Given the description of an element on the screen output the (x, y) to click on. 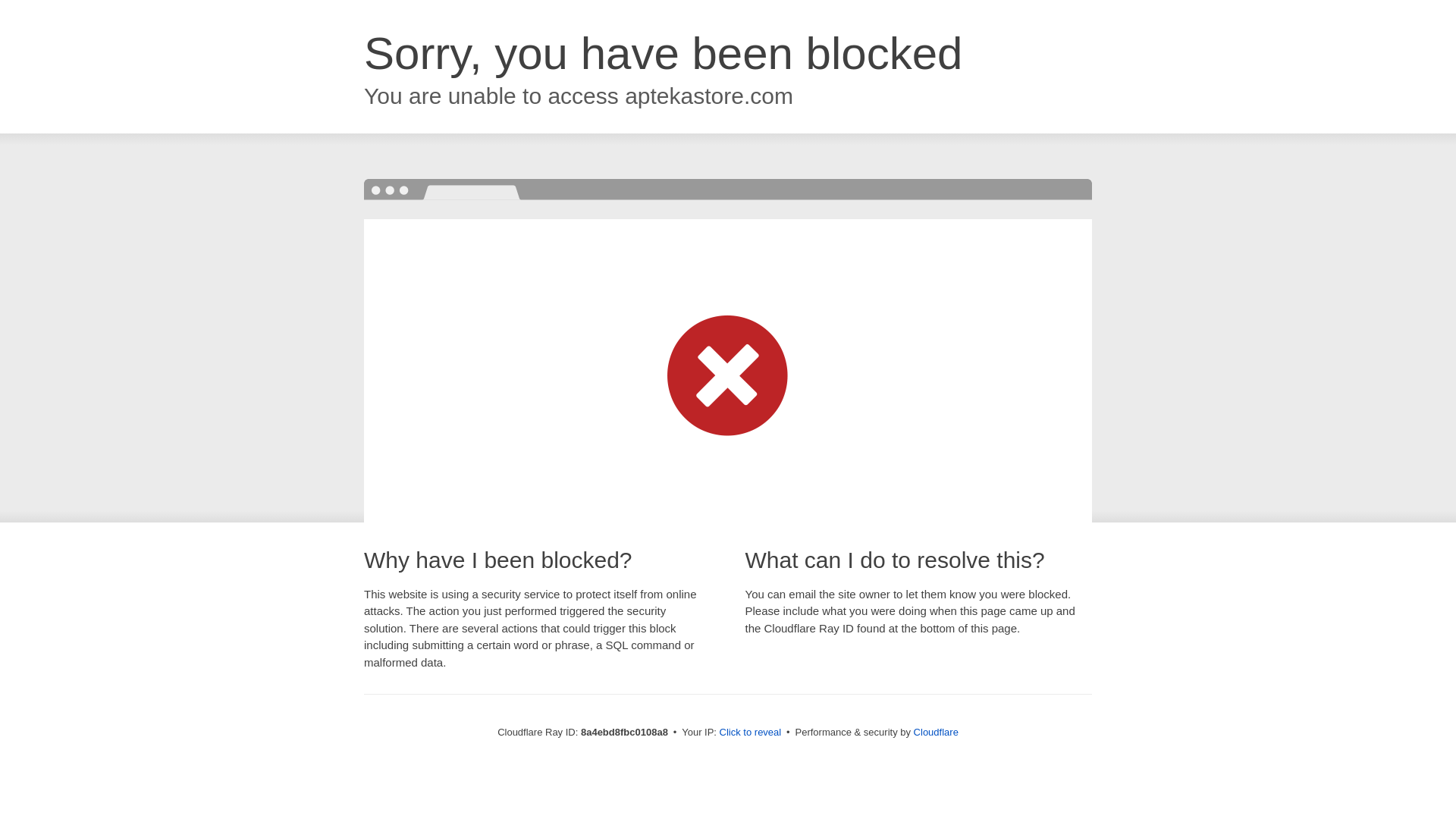
Cloudflare (936, 731)
Click to reveal (750, 732)
